Given the description of an element on the screen output the (x, y) to click on. 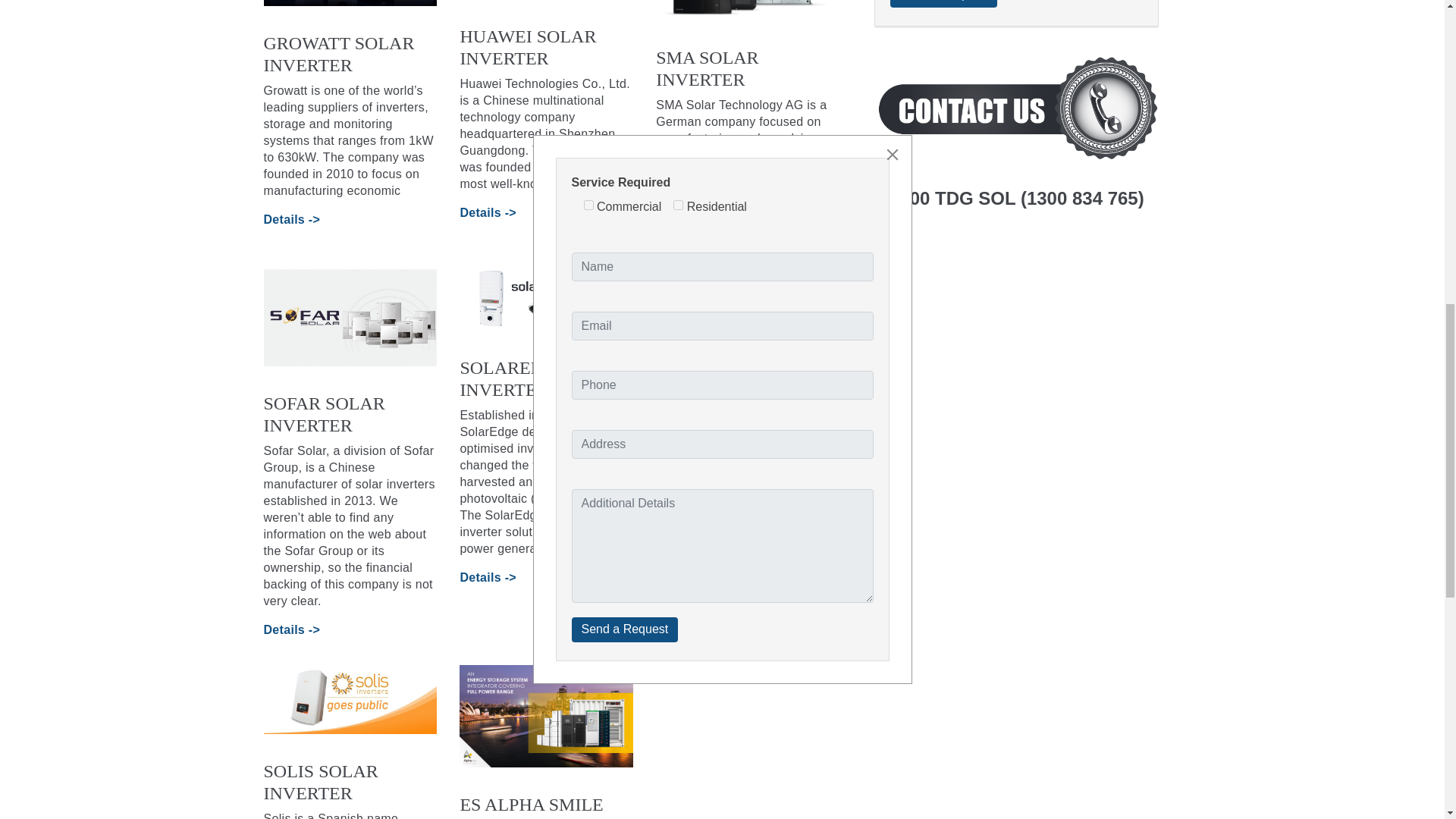
Send a Request (943, 3)
Send a Request (943, 3)
